Given the description of an element on the screen output the (x, y) to click on. 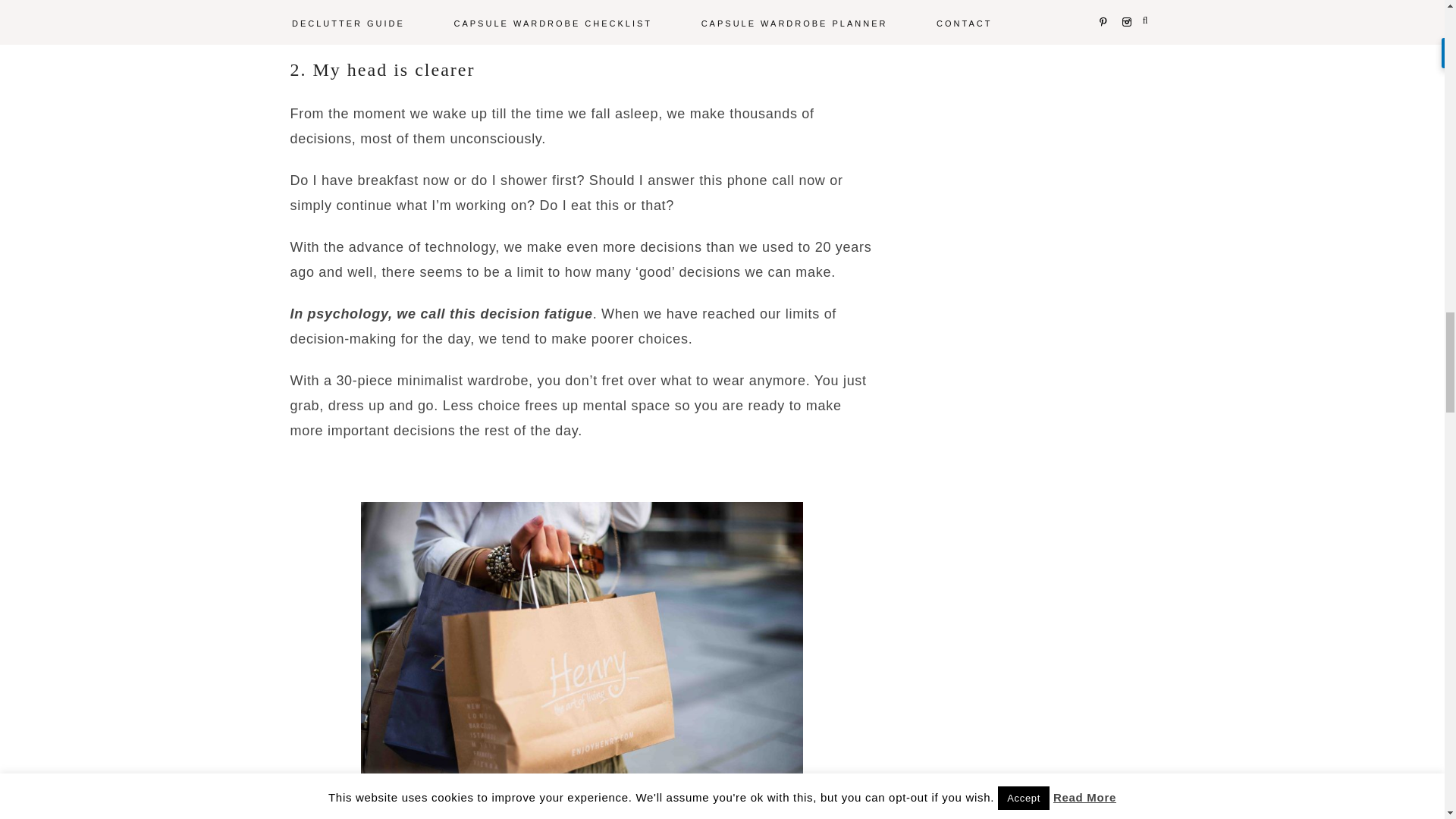
7 ways a minimalist wardrobe changed my life (582, 649)
